Given the description of an element on the screen output the (x, y) to click on. 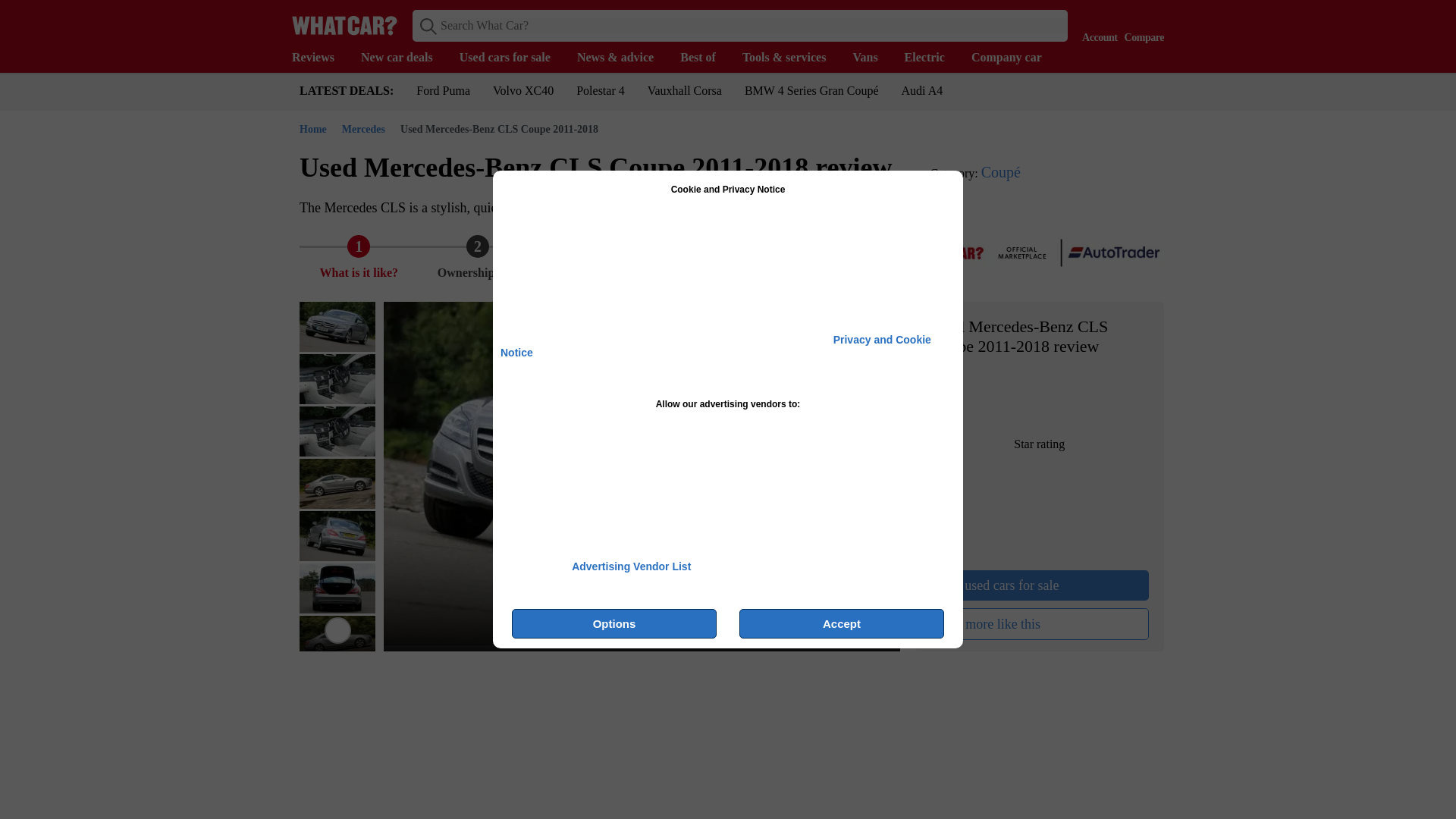
Vans (871, 57)
New car deals (404, 57)
WhatCar? logo (344, 25)
Used cars for sale (513, 57)
Reviews (320, 57)
Compare (1140, 24)
Account (1095, 24)
Best of (704, 57)
Company car (1014, 57)
Electric (931, 57)
